Given the description of an element on the screen output the (x, y) to click on. 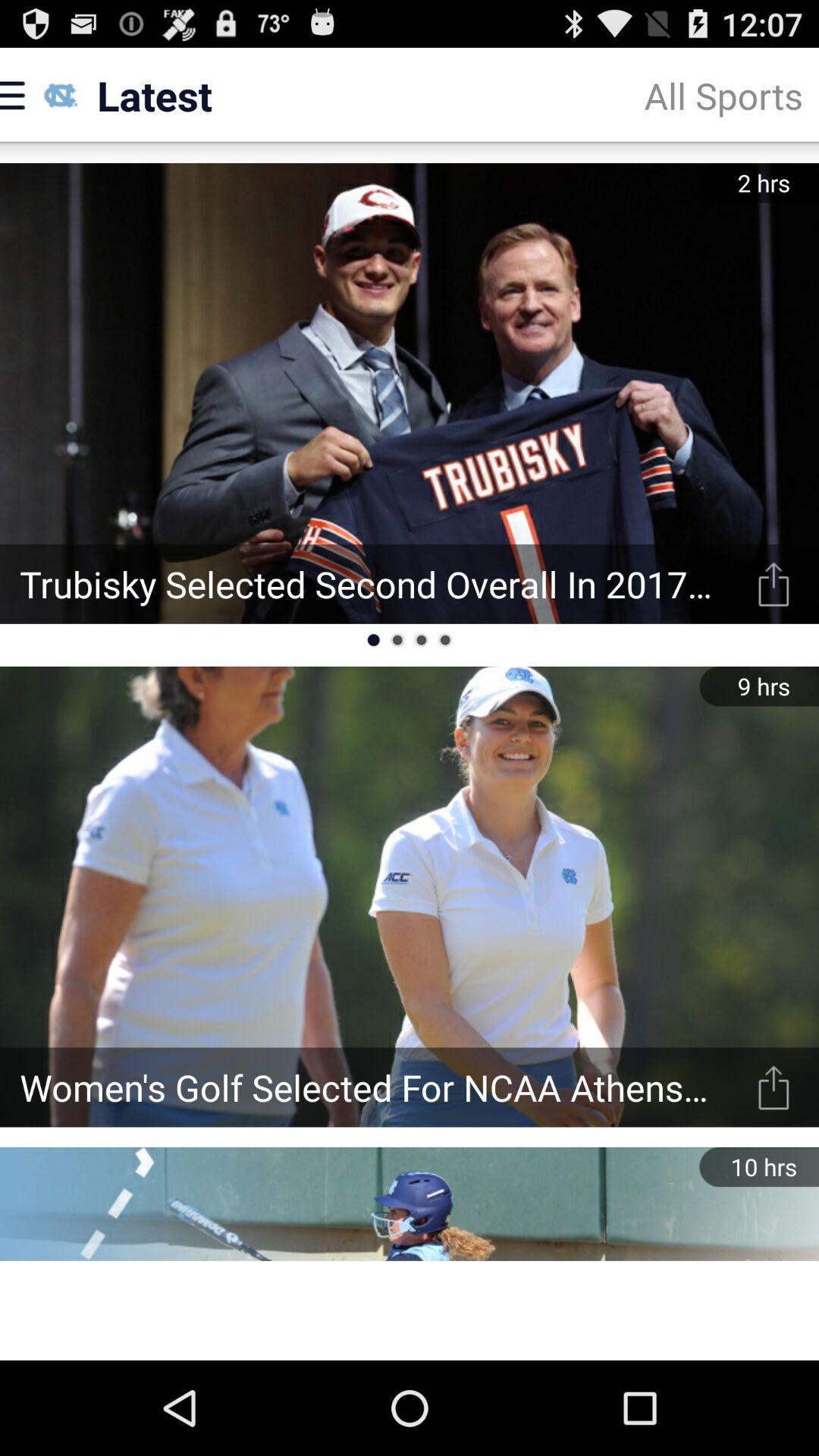
send button for social media (773, 583)
